Given the description of an element on the screen output the (x, y) to click on. 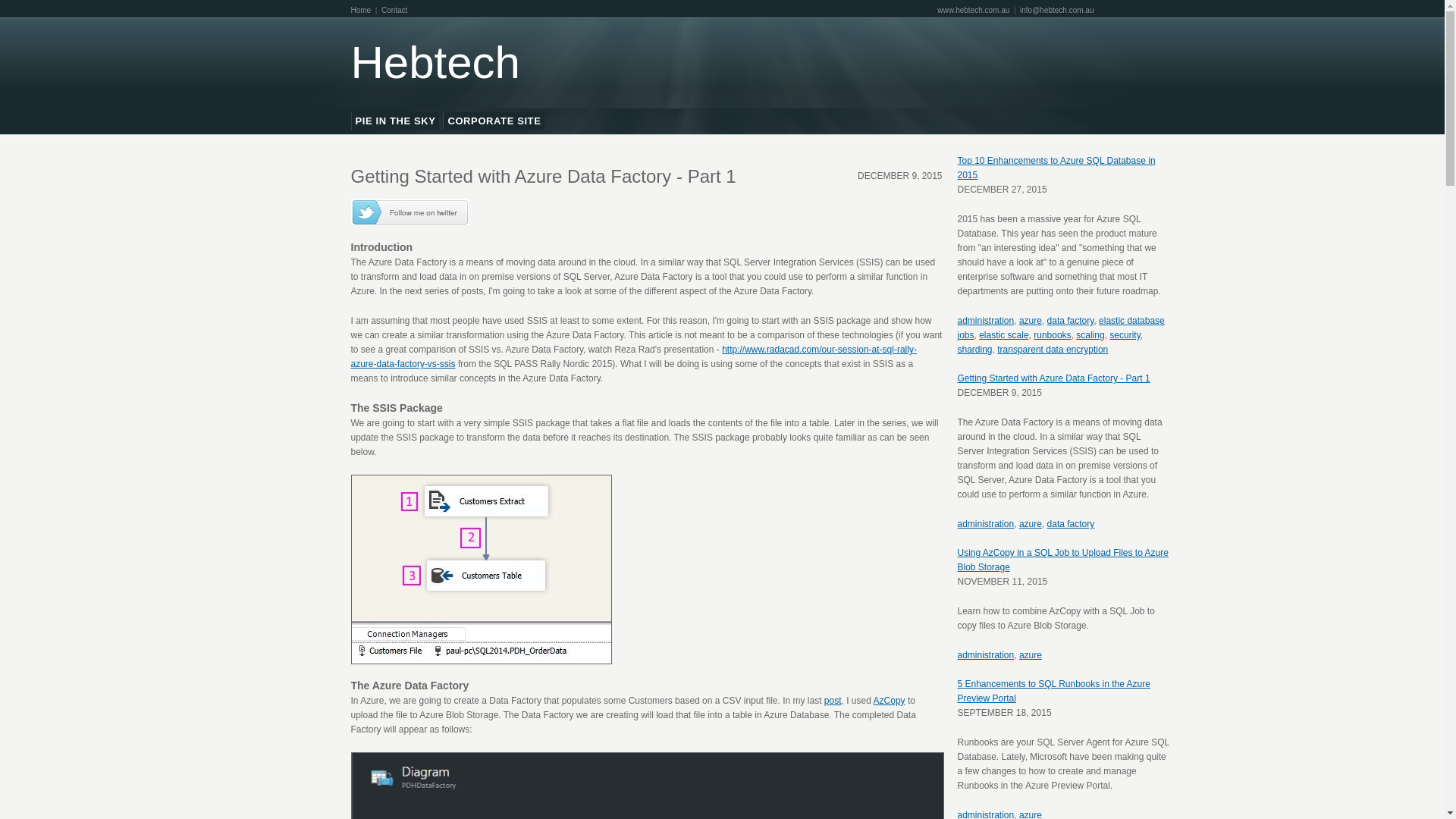
administration Element type: text (985, 320)
azure Element type: text (1030, 320)
Getting Started with Azure Data Factory - Part 1 Element type: text (1053, 378)
Follow Paul Hebhardt on Twitter Element type: hover (408, 217)
AzCopy Element type: text (889, 700)
data factory Element type: text (1071, 523)
Top 10 Enhancements to Azure SQL Database in 2015 Element type: text (1055, 167)
scaling Element type: text (1090, 334)
sharding Element type: text (974, 349)
administration Element type: text (985, 523)
post Element type: text (832, 700)
www.hebtech.com.au Element type: text (973, 10)
PIE IN THE SKY Element type: text (395, 120)
elastic database jobs Element type: text (1060, 327)
CORPORATE SITE Element type: text (493, 120)
azure Element type: text (1030, 654)
azure Element type: text (1030, 523)
administration Element type: text (985, 654)
5 Enhancements to SQL Runbooks in the Azure Preview Portal Element type: text (1053, 690)
info@hebtech.com.au Element type: text (1056, 10)
elastic scale Element type: text (1003, 334)
runbooks Element type: text (1051, 334)
transparent data encryption Element type: text (1052, 349)
Home Element type: text (360, 10)
Skip to main content Element type: text (696, 1)
data factory Element type: text (1070, 320)
security Element type: text (1124, 334)
Contact Element type: text (394, 10)
